Given the description of an element on the screen output the (x, y) to click on. 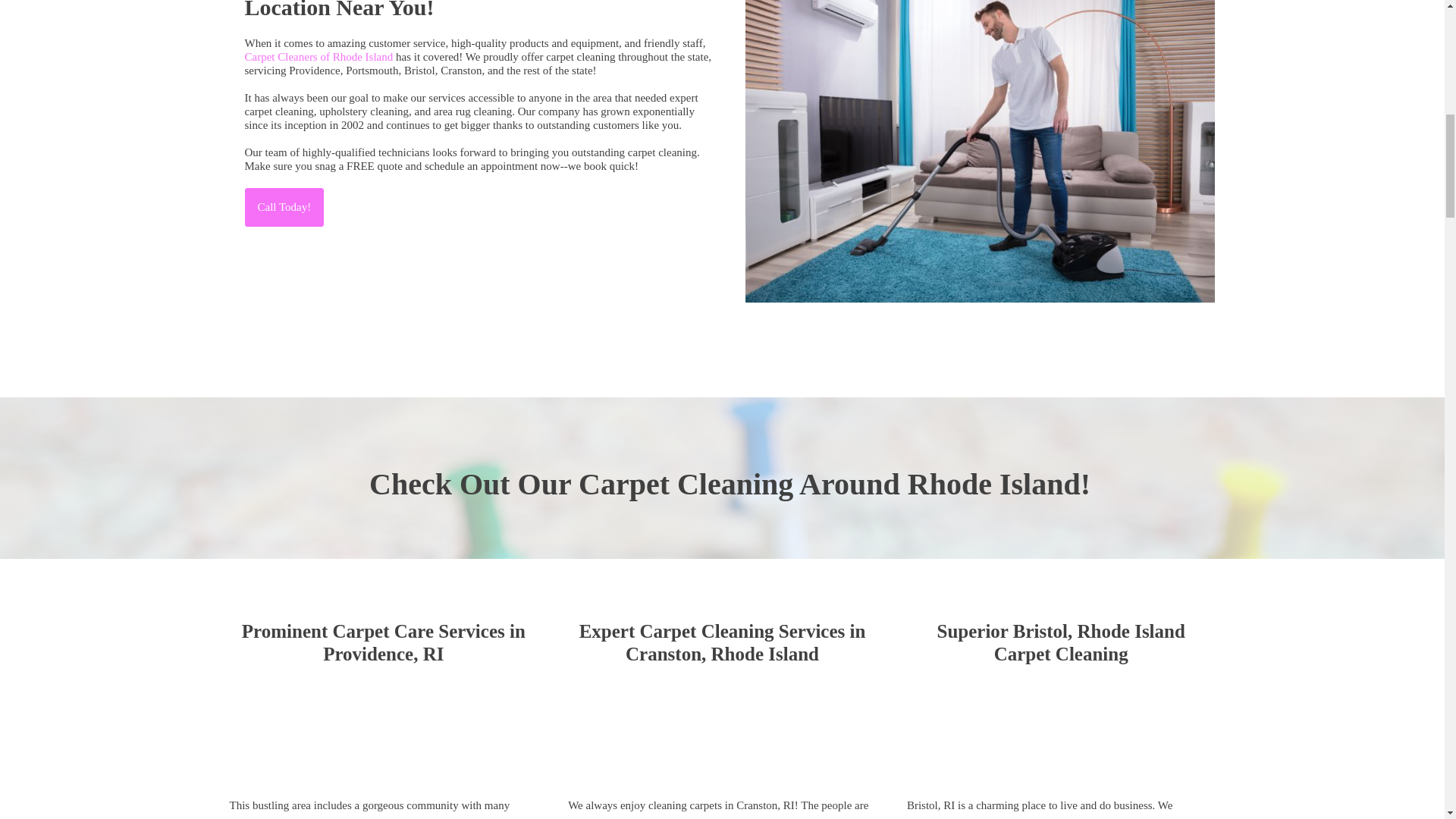
Carpet Cleaners of Rhode Island (318, 56)
Call Today! (283, 207)
